Given the description of an element on the screen output the (x, y) to click on. 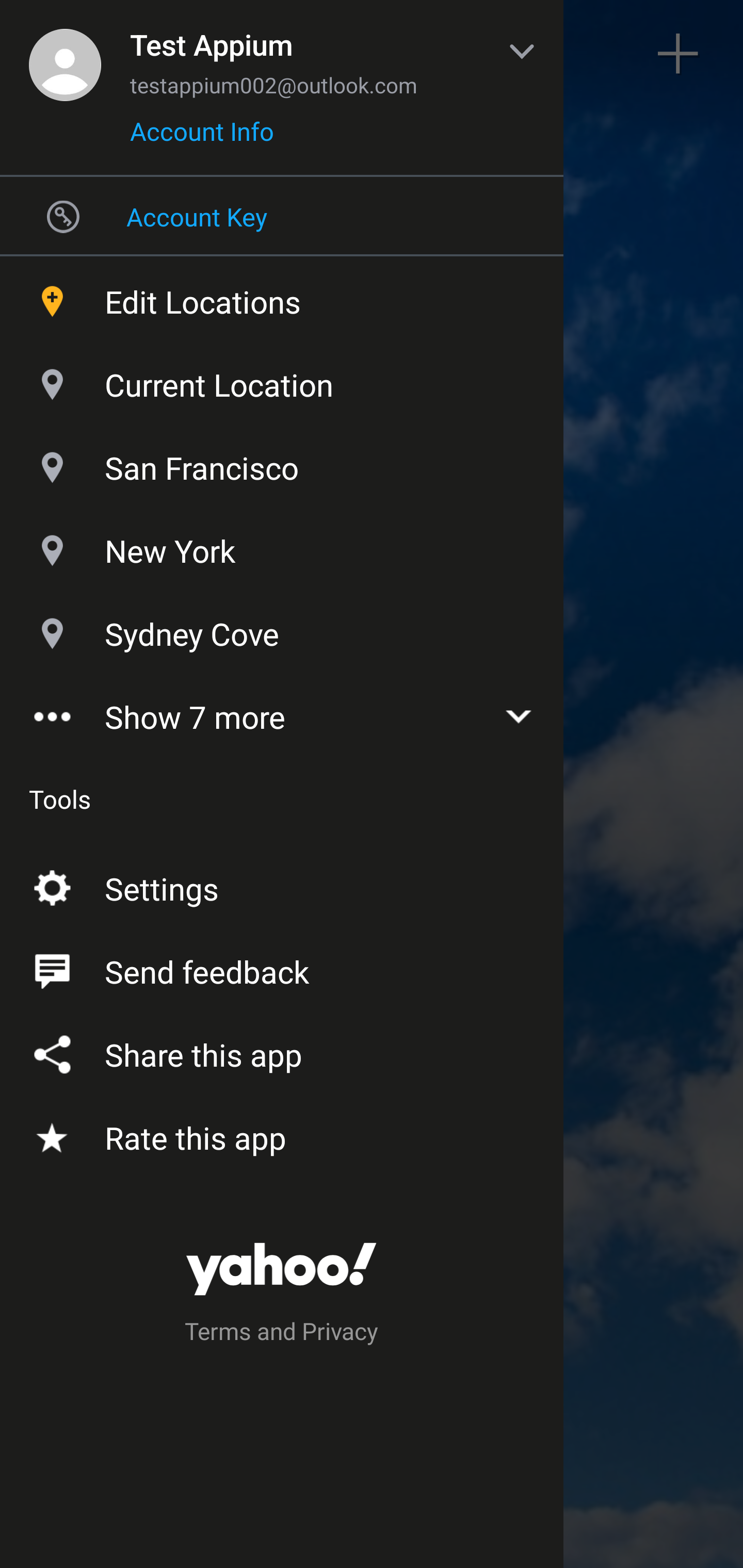
Sidebar (64, 54)
Account Info (202, 137)
Account Key (281, 216)
Edit Locations (281, 296)
Current Location (281, 379)
San Francisco (281, 462)
New York (281, 546)
Sydney Cove (281, 629)
Settings (281, 884)
Send feedback (281, 967)
Share this app (281, 1050)
Terms and Privacy Terms and privacy button (281, 1334)
